Given the description of an element on the screen output the (x, y) to click on. 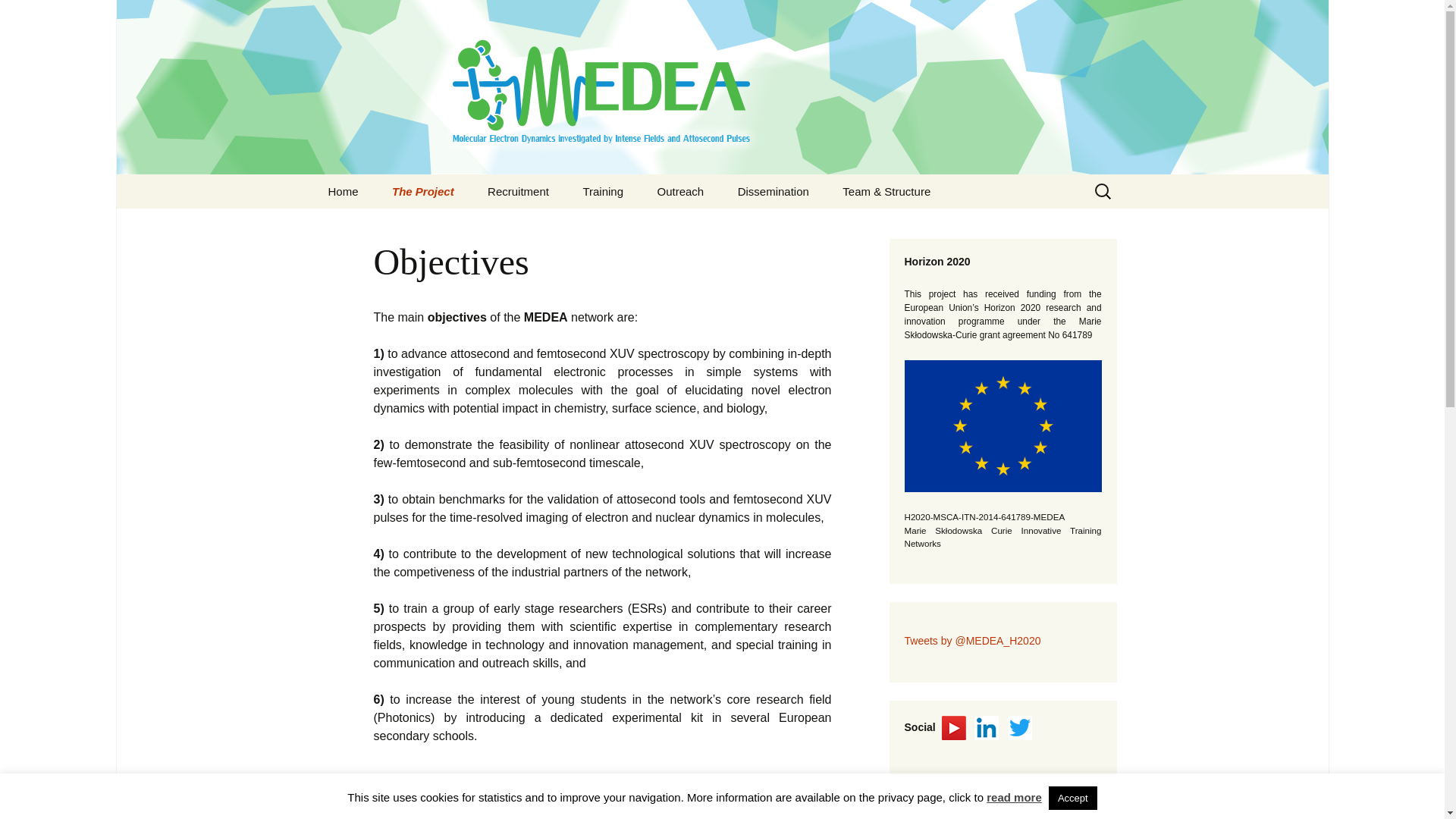
YouTube (954, 726)
Recruitment (517, 191)
Linkedin (986, 727)
Training (603, 191)
Objectives (452, 225)
News (388, 225)
Twitter (1019, 727)
The Project (422, 191)
How To for Beginners (643, 225)
Home (342, 191)
